Given the description of an element on the screen output the (x, y) to click on. 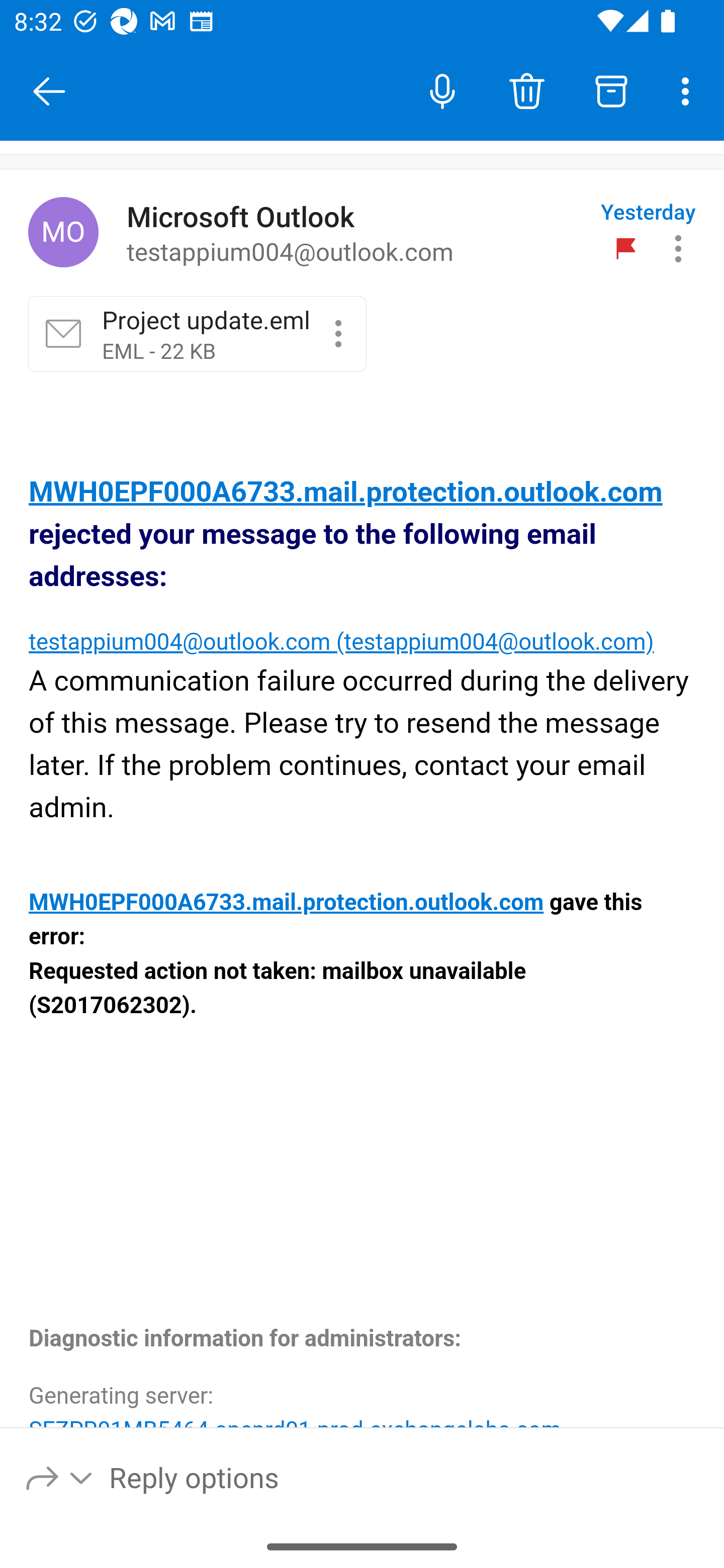
Close (49, 91)
Delete (526, 90)
Archive (611, 90)
More options (688, 90)
Microsoft Outlook
to testappium004@outlook.com (356, 232)
Message actions (678, 248)
Project update.eml (338, 333)
Reply options (59, 1476)
